Given the description of an element on the screen output the (x, y) to click on. 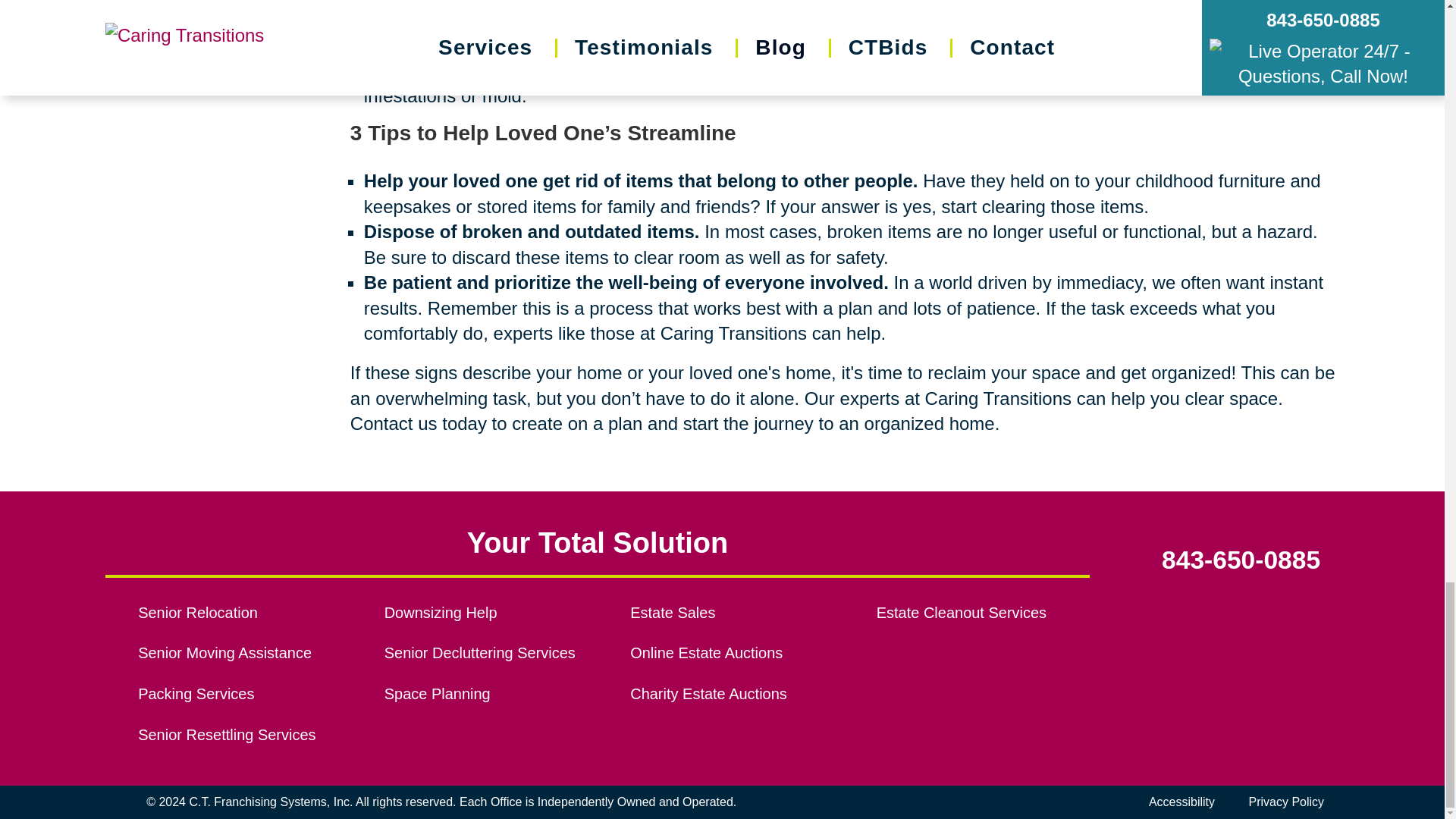
Downsizing Help (490, 613)
Packing Services (244, 694)
Senior Decluttering Services (490, 653)
Space Planning (490, 694)
Senior Relocation (244, 613)
Senior Moving Assistance (244, 653)
Senior Resettling Services (244, 735)
Online Estate Auctions (736, 653)
Estate Sales (736, 613)
